Given the description of an element on the screen output the (x, y) to click on. 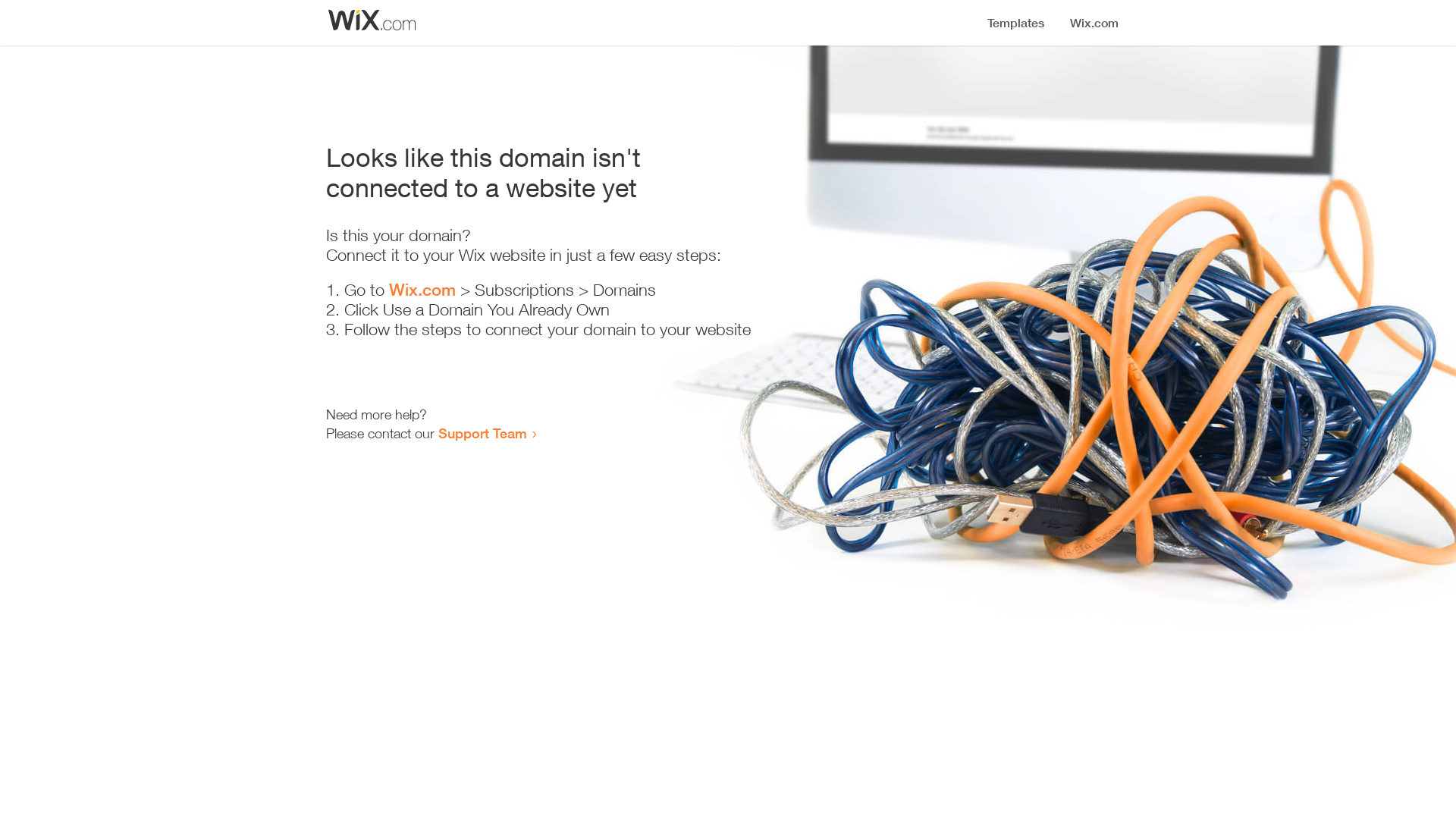
Support Team Element type: text (482, 432)
Wix.com Element type: text (422, 289)
